Given the description of an element on the screen output the (x, y) to click on. 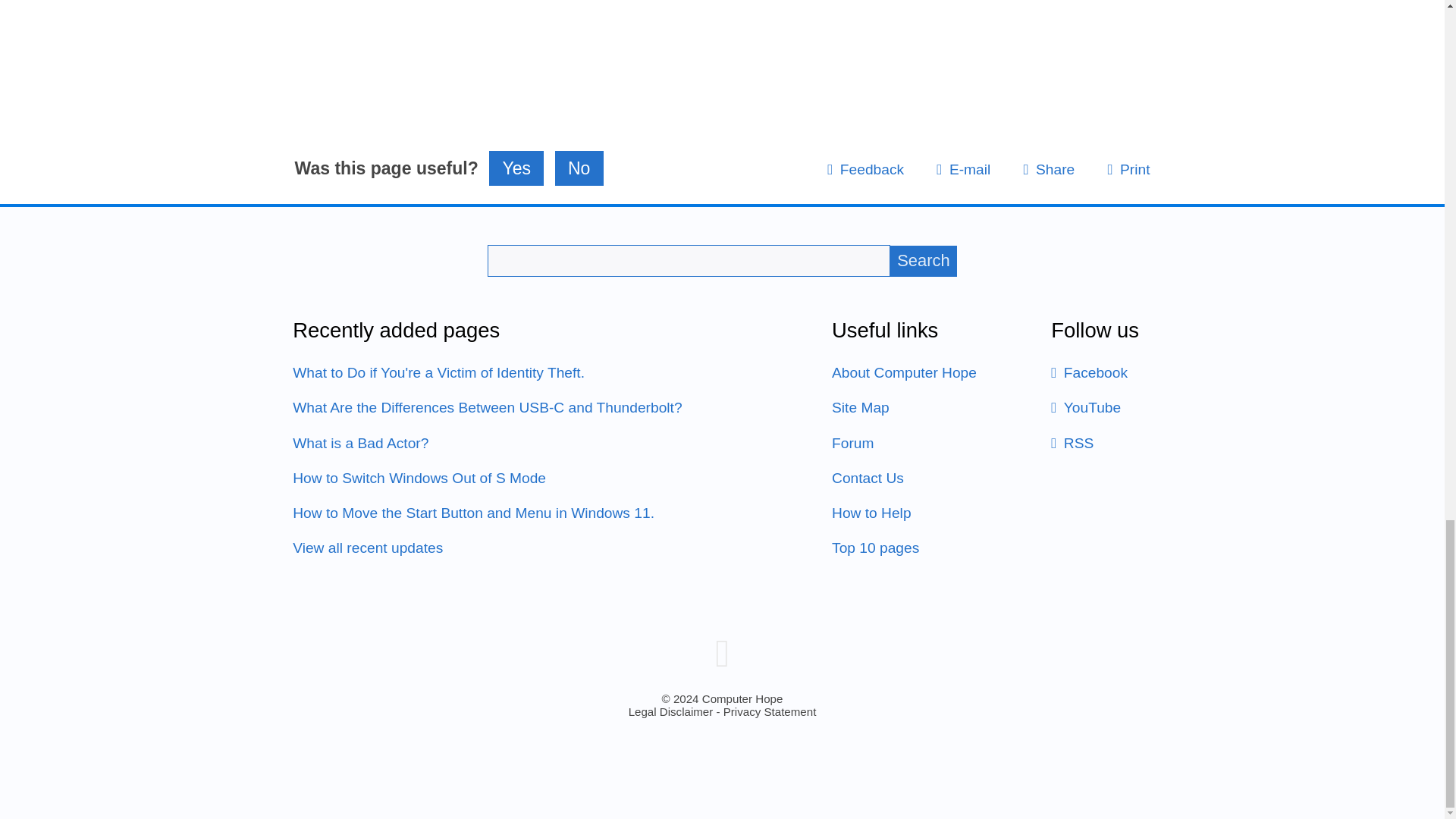
No (579, 167)
Share this page with friends and social networks (1048, 169)
Computer Hope home page (721, 652)
Give us your feedback about this page (865, 169)
E-mail Computer Hope (963, 169)
Print a copy of this page (1128, 169)
Feedback (865, 169)
Yes (516, 167)
Advertisement (722, 38)
